Given the description of an element on the screen output the (x, y) to click on. 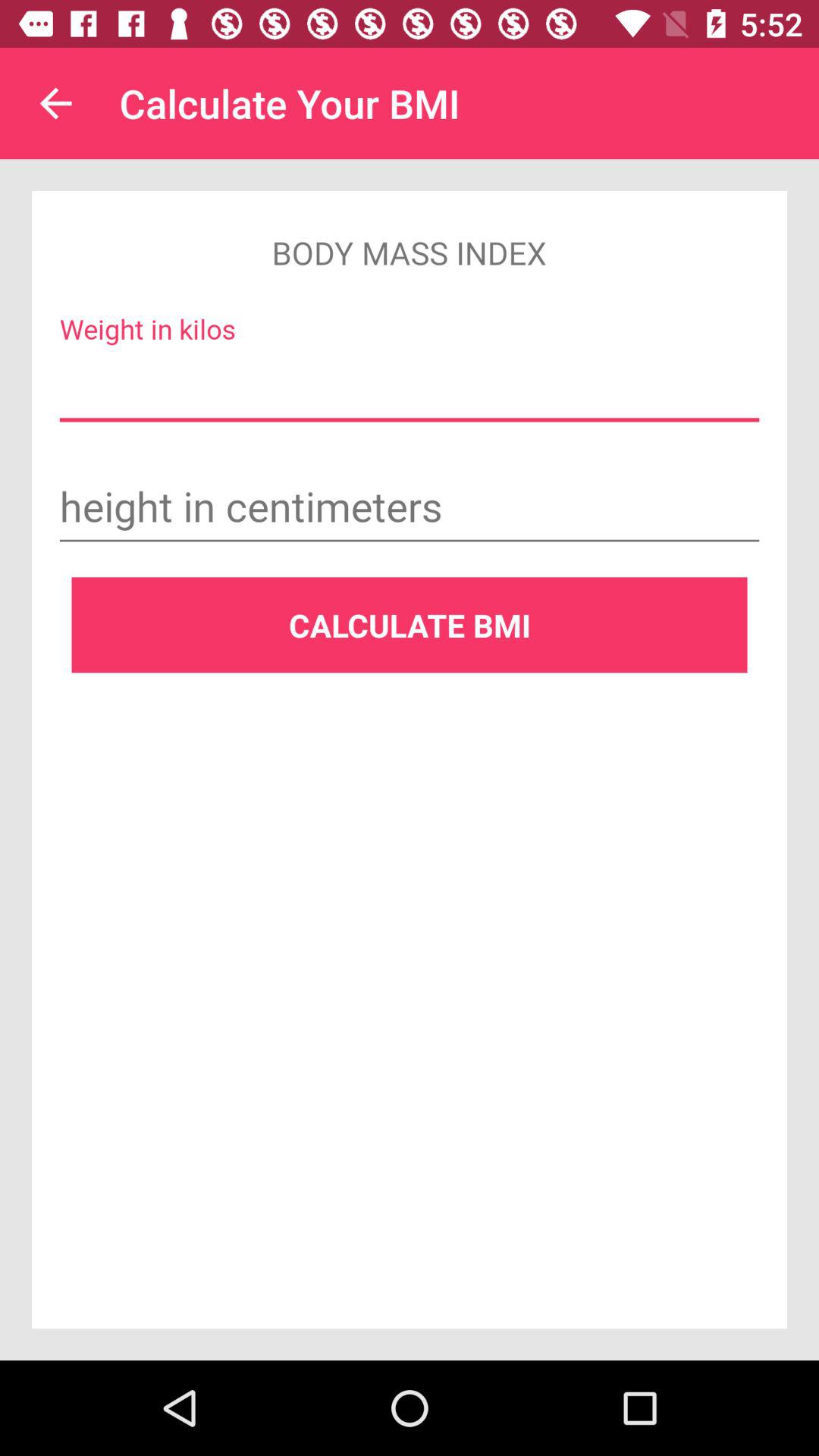
fill section (409, 386)
